Given the description of an element on the screen output the (x, y) to click on. 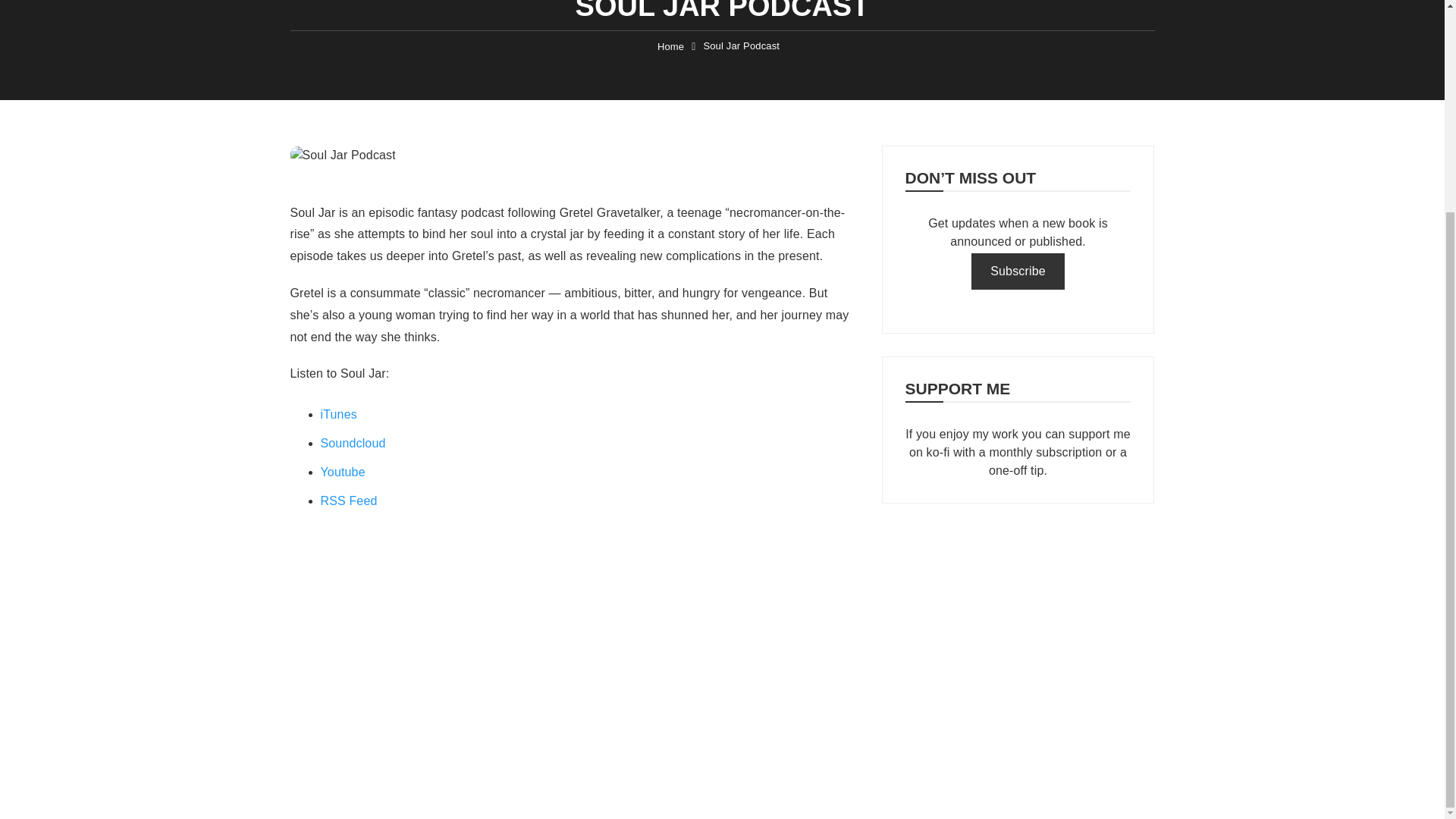
Subscribe (1017, 271)
Subscribe (1017, 271)
Home (671, 46)
Soul Jar Podcast (740, 46)
iTunes (338, 413)
RSS Feed (348, 500)
Soundcloud (352, 442)
Youtube (342, 472)
